Given the description of an element on the screen output the (x, y) to click on. 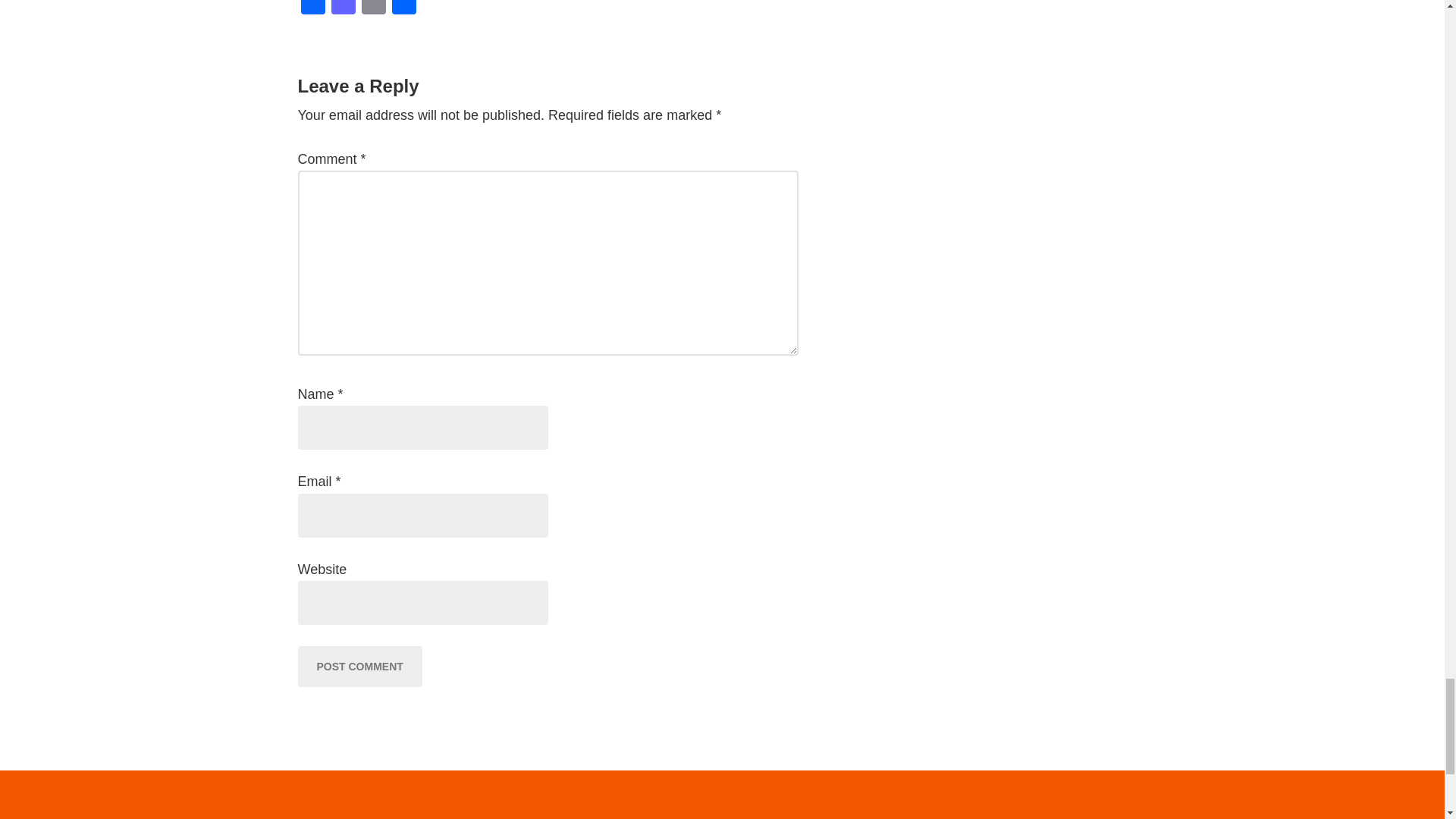
Post Comment (359, 666)
Post Comment (359, 666)
Email (373, 9)
Mastodon (342, 9)
Email (373, 9)
Facebook (312, 9)
Facebook (312, 9)
Share (403, 9)
Mastodon (342, 9)
